Given the description of an element on the screen output the (x, y) to click on. 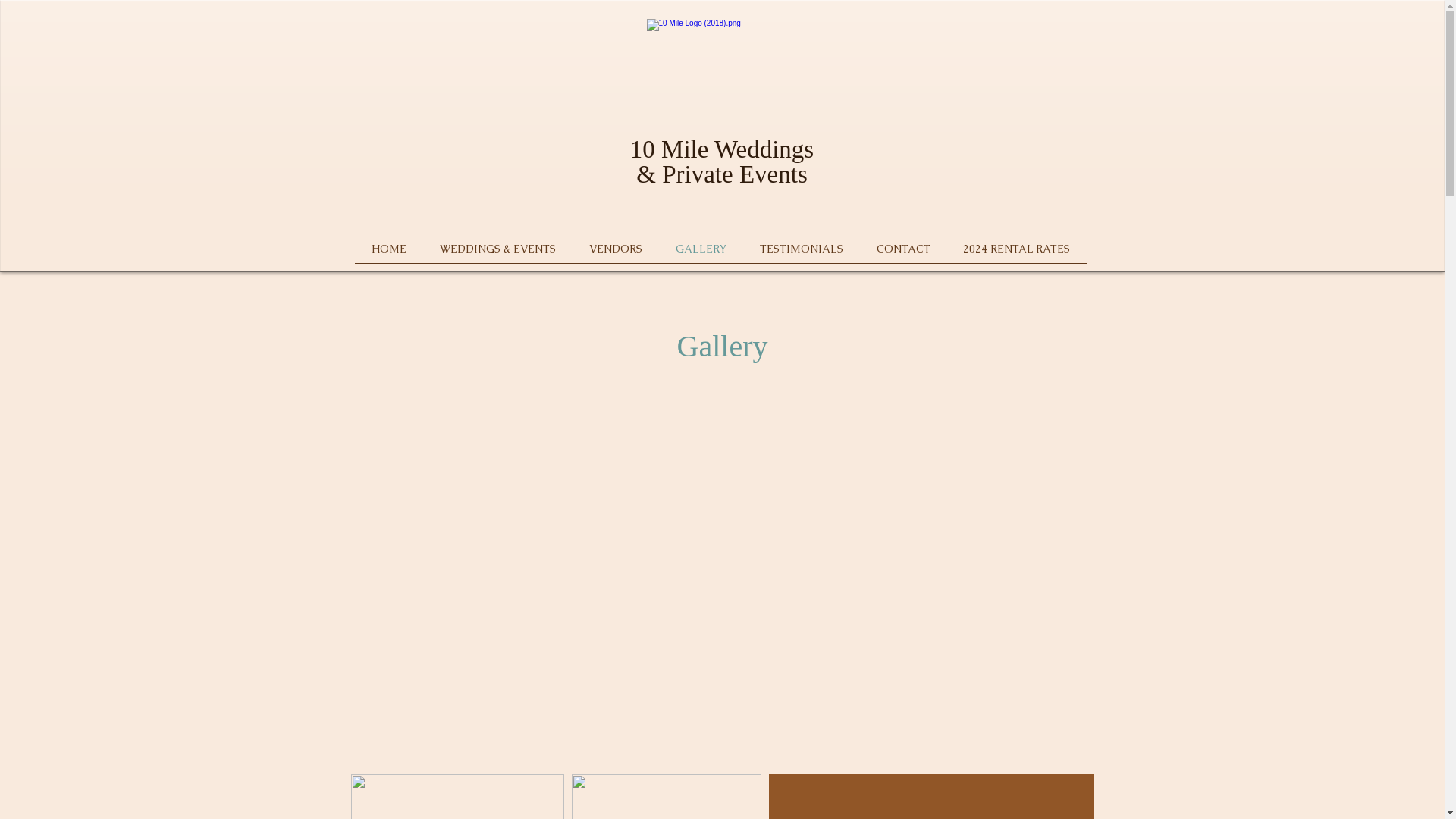
CONTACT Element type: text (903, 248)
WEDDINGS & EVENTS Element type: text (497, 248)
2024 RENTAL RATES Element type: text (1015, 248)
TESTIMONIALS Element type: text (801, 248)
HOME Element type: text (388, 248)
10 Mile Weddings & Private Events Element type: text (721, 161)
VENDORS Element type: text (614, 248)
3D video tour of 10 Mile Music Hall Element type: hover (721, 583)
GALLERY Element type: text (700, 248)
